Given the description of an element on the screen output the (x, y) to click on. 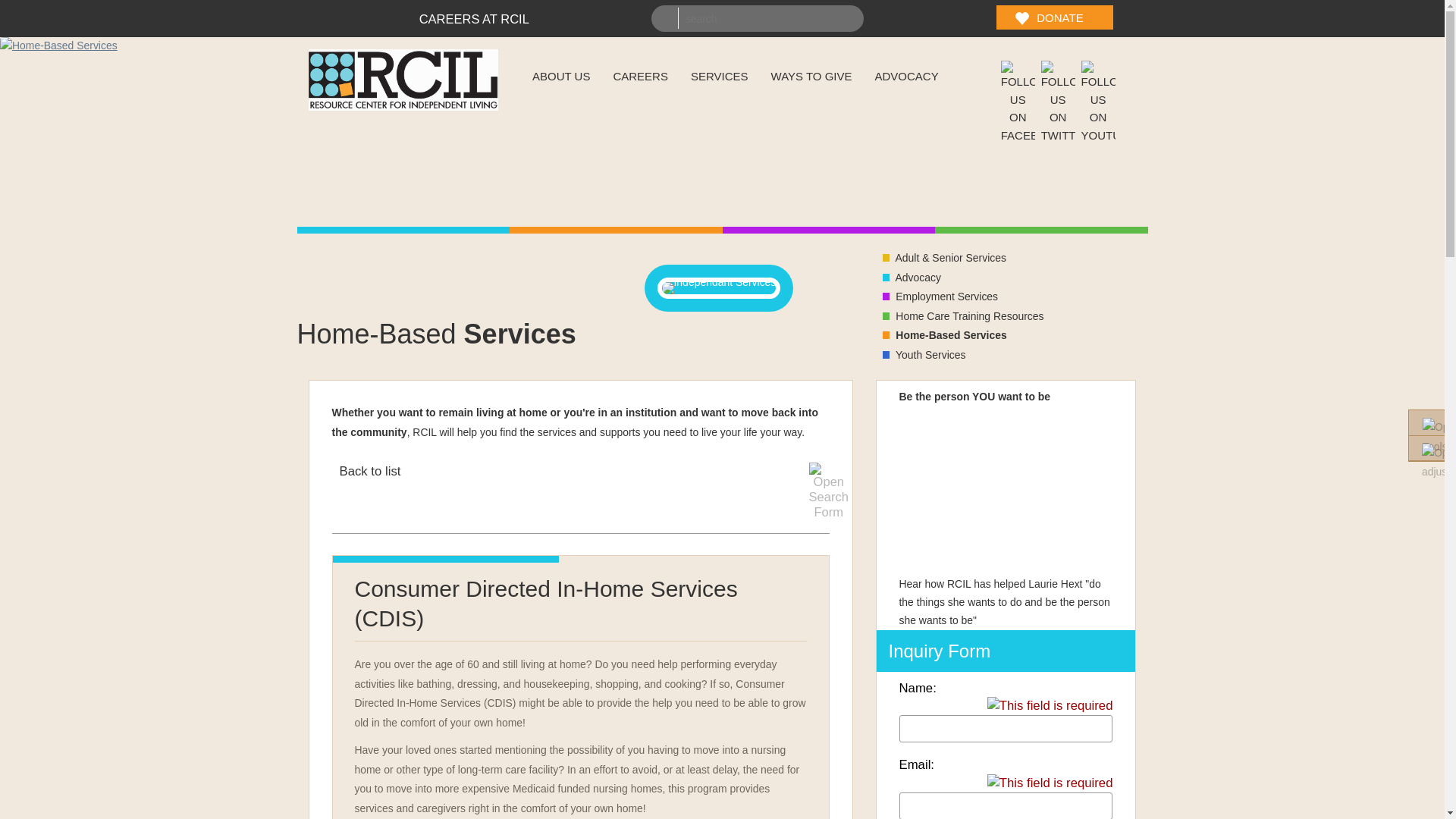
Go search (668, 17)
DONATE (1054, 16)
RCIL: You have the right to remain you (402, 106)
Go search (668, 17)
ABOUT US (561, 75)
Go search (668, 17)
CAREERS AT RCIL (474, 18)
